Given the description of an element on the screen output the (x, y) to click on. 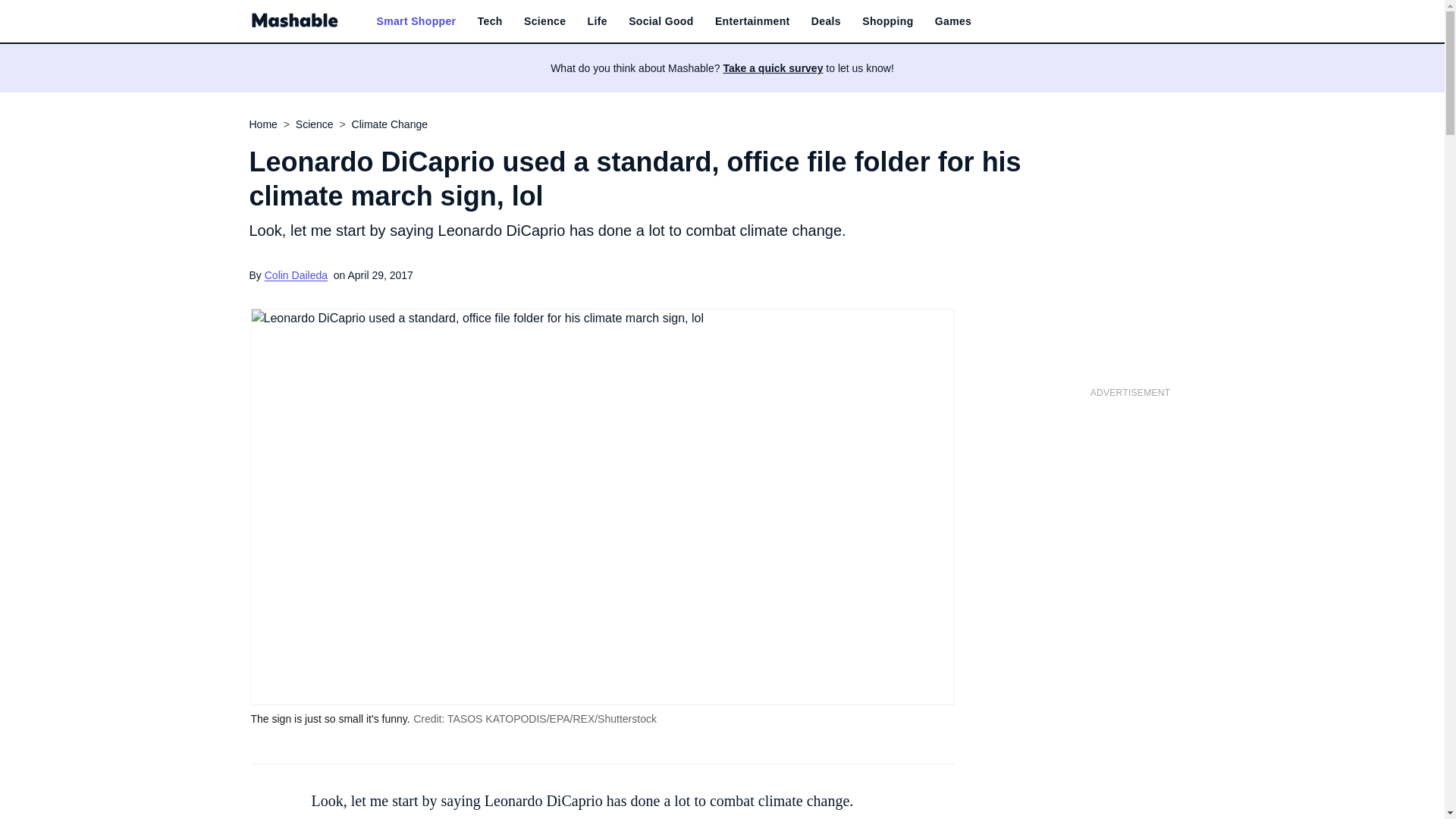
Science (545, 21)
Shopping (886, 21)
Social Good (661, 21)
Smart Shopper (415, 21)
Entertainment (752, 21)
Life (597, 21)
Deals (825, 21)
Tech (489, 21)
Games (952, 21)
